Given the description of an element on the screen output the (x, y) to click on. 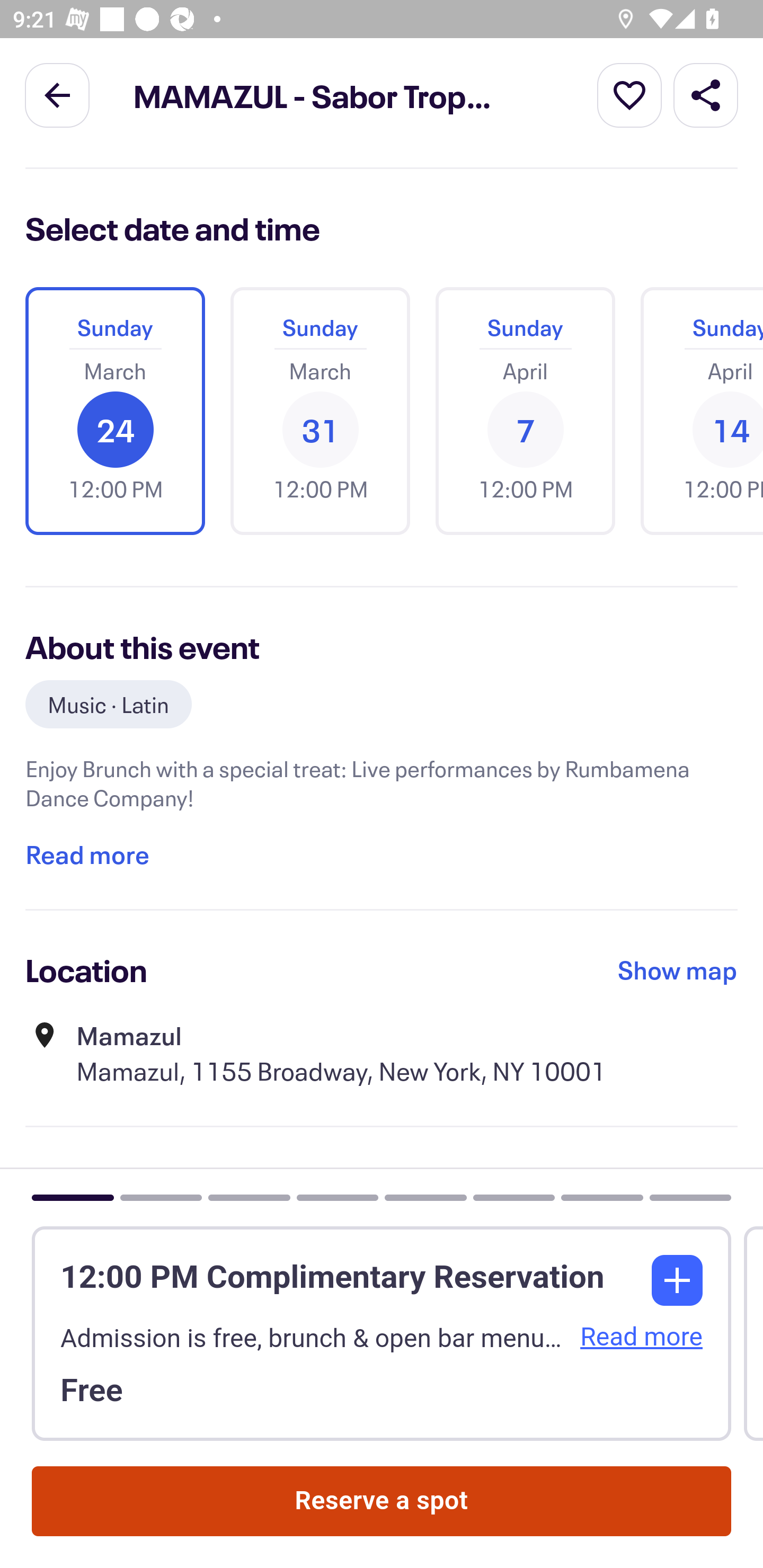
Back (57, 94)
More (629, 94)
Share (705, 94)
Sunday March 24 12:00 PM (114, 410)
Sunday March 31 12:00 PM (319, 410)
Sunday April 7 12:00 PM (524, 410)
Sunday April 14 12:00 PM (695, 410)
Read more (87, 854)
Show map (677, 969)
Go to slide 1 (73, 1197)
Go to slide 2 (160, 1197)
Go to slide 3 (249, 1197)
Go to slide 4 (337, 1197)
Go to slide 5 (425, 1197)
Go to slide 6 (513, 1197)
Go to slide 7 (601, 1197)
Go to slide 8 (689, 1197)
Increase (676, 1280)
Read more (636, 1337)
Reserve a spot (381, 1502)
